Given the description of an element on the screen output the (x, y) to click on. 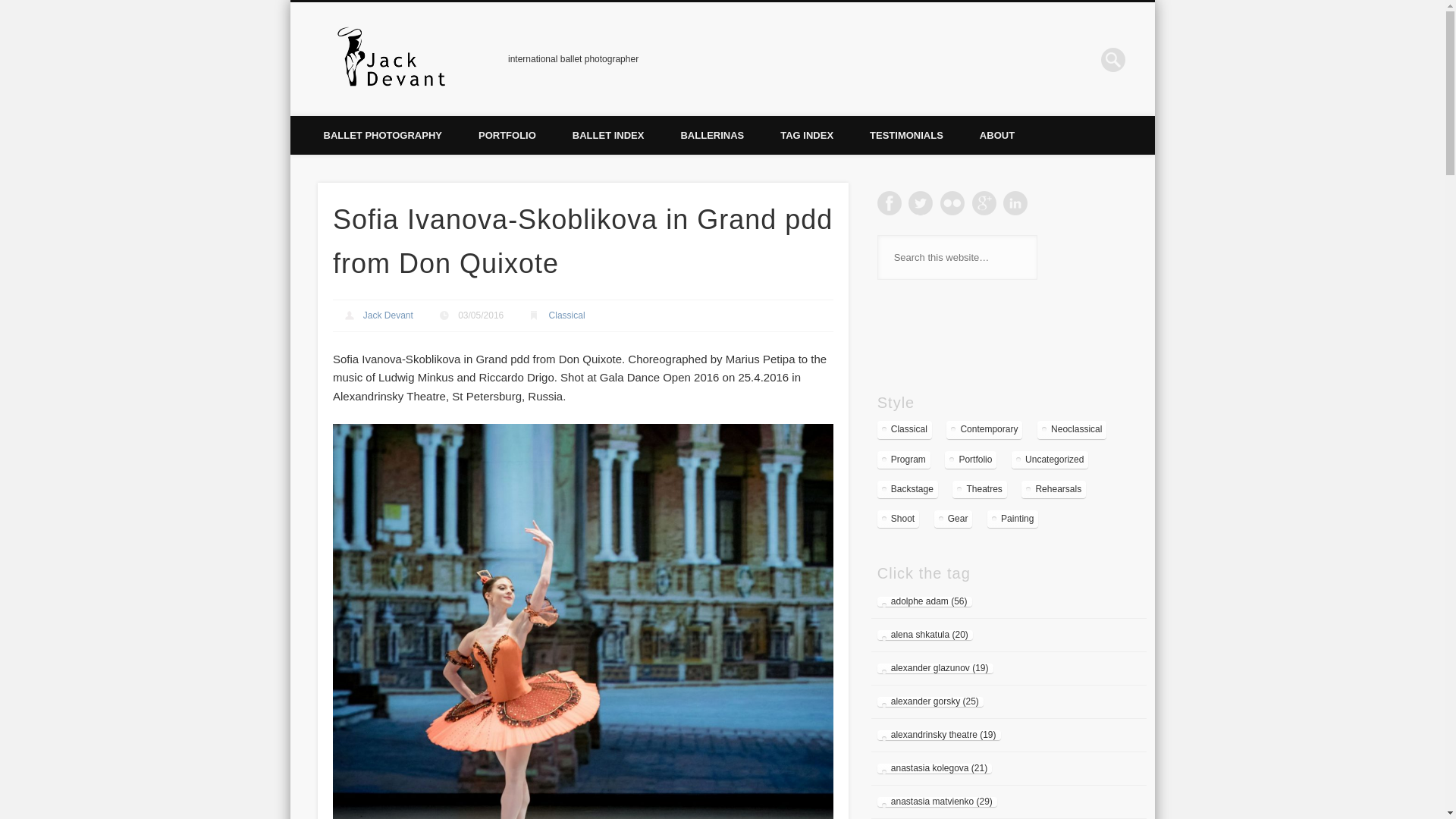
Twitter (920, 202)
Search (11, 7)
TESTIMONIALS (905, 135)
391 topics (984, 429)
Backstage (907, 488)
Shoot (897, 518)
153 topics (903, 458)
Classical (904, 429)
Posts by Jack Devant (387, 315)
718 topics (904, 429)
